Given the description of an element on the screen output the (x, y) to click on. 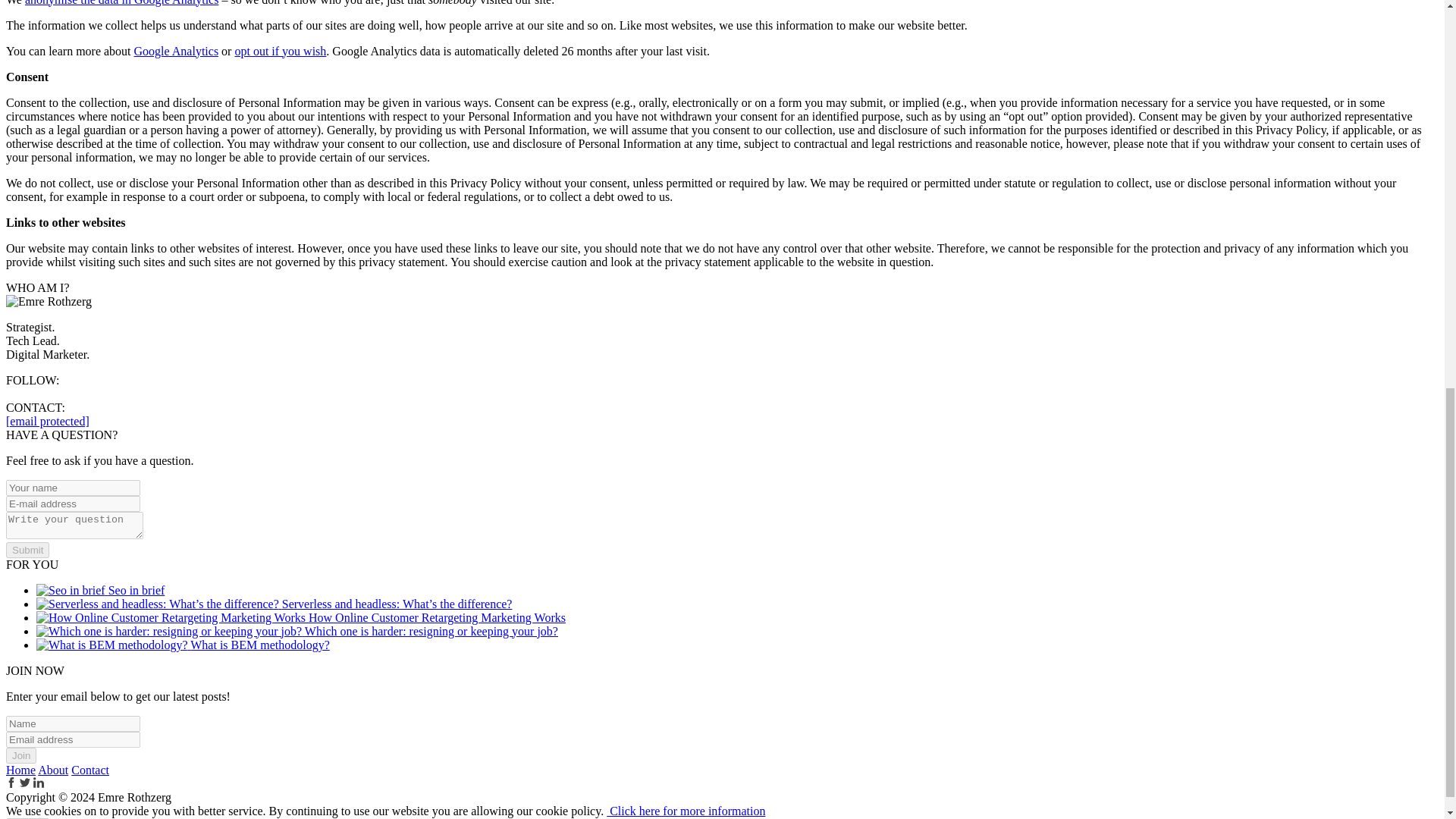
Which one is harder: resigning or keeping your job? (296, 631)
Google Analytics (176, 51)
How to opt out of Google Analytics (280, 51)
About (52, 769)
Join (20, 755)
Google Analytics' privacy policy (176, 51)
Contact (90, 769)
Seo in brief (100, 590)
opt out if you wish (280, 51)
anonymise the data in Google Analytics (121, 2)
How Online Customer Retargeting Marketing Works (301, 617)
Submit (27, 549)
Click here for more information (686, 810)
How Online Customer Retargeting Marketing Works (301, 617)
Seo in brief (100, 590)
